Given the description of an element on the screen output the (x, y) to click on. 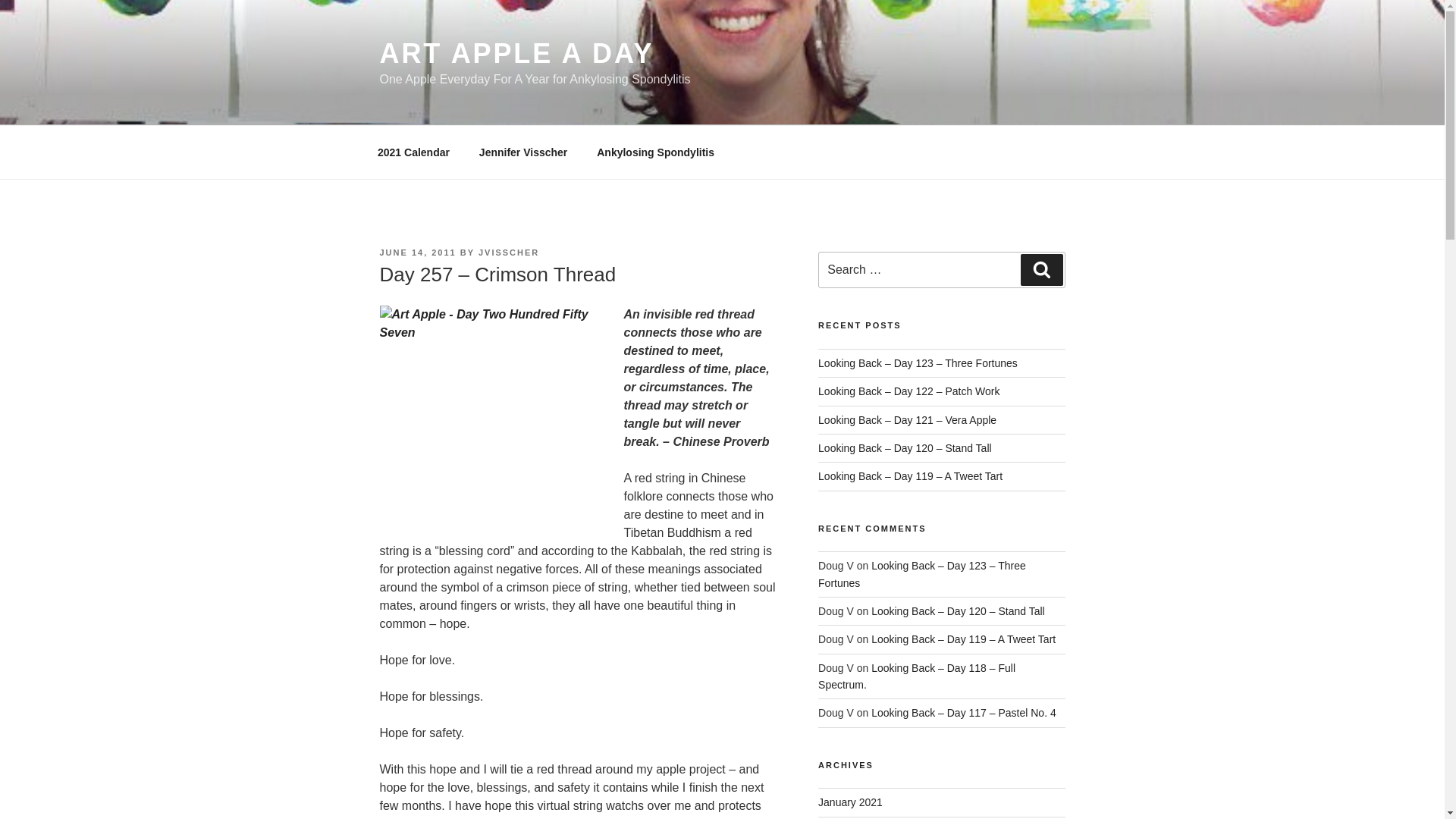
2021 Calendar (413, 151)
JUNE 14, 2011 (416, 252)
ART APPLE A DAY (515, 52)
Ankylosing Spondylitis (655, 151)
Day Two Hundred Fifty Seven (491, 419)
Jennifer Visscher (522, 151)
JVISSCHER (508, 252)
